Given the description of an element on the screen output the (x, y) to click on. 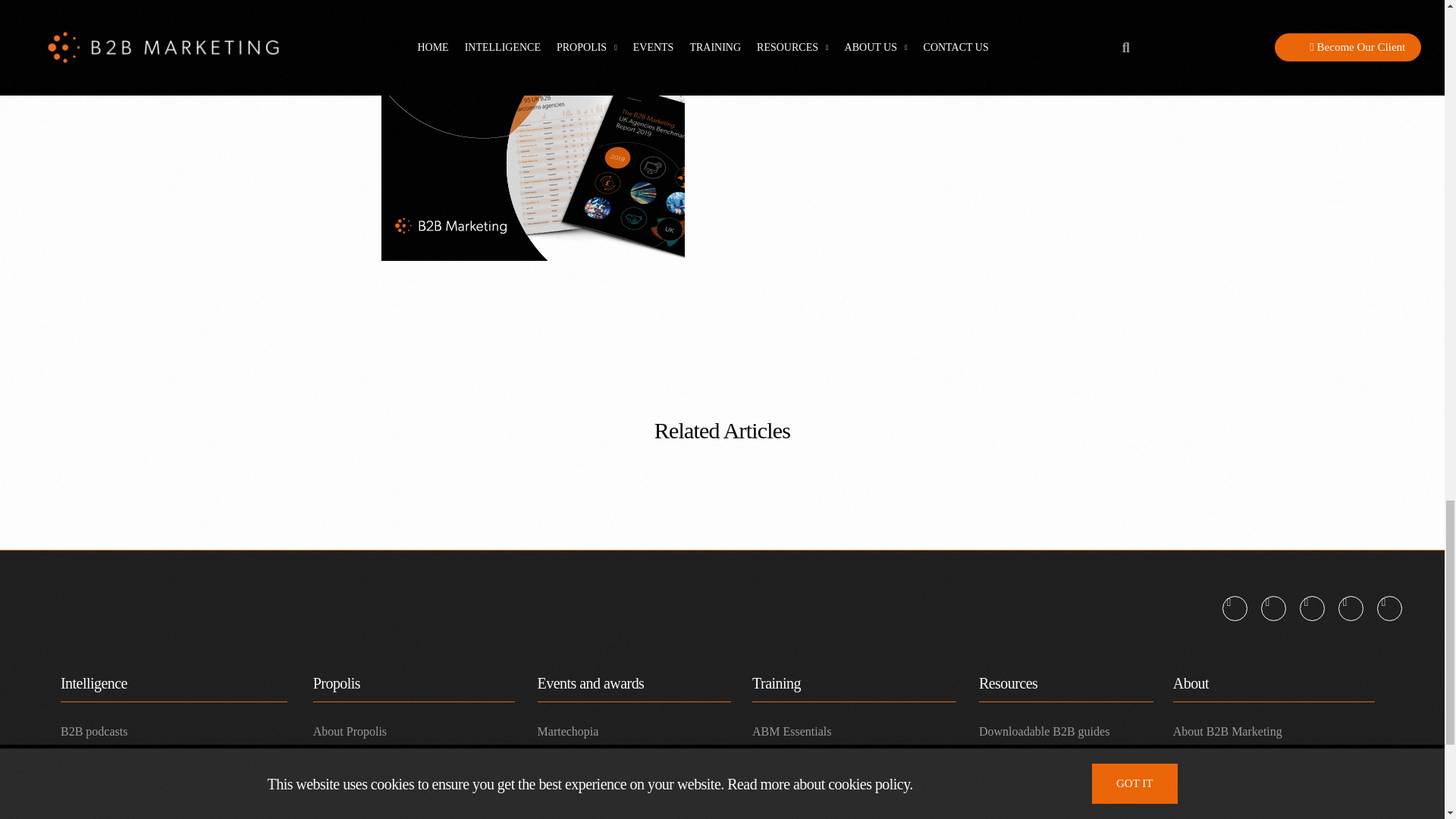
The B2B Marketing UK Agencies Benchmarking Report 2019 (532, 130)
